Given the description of an element on the screen output the (x, y) to click on. 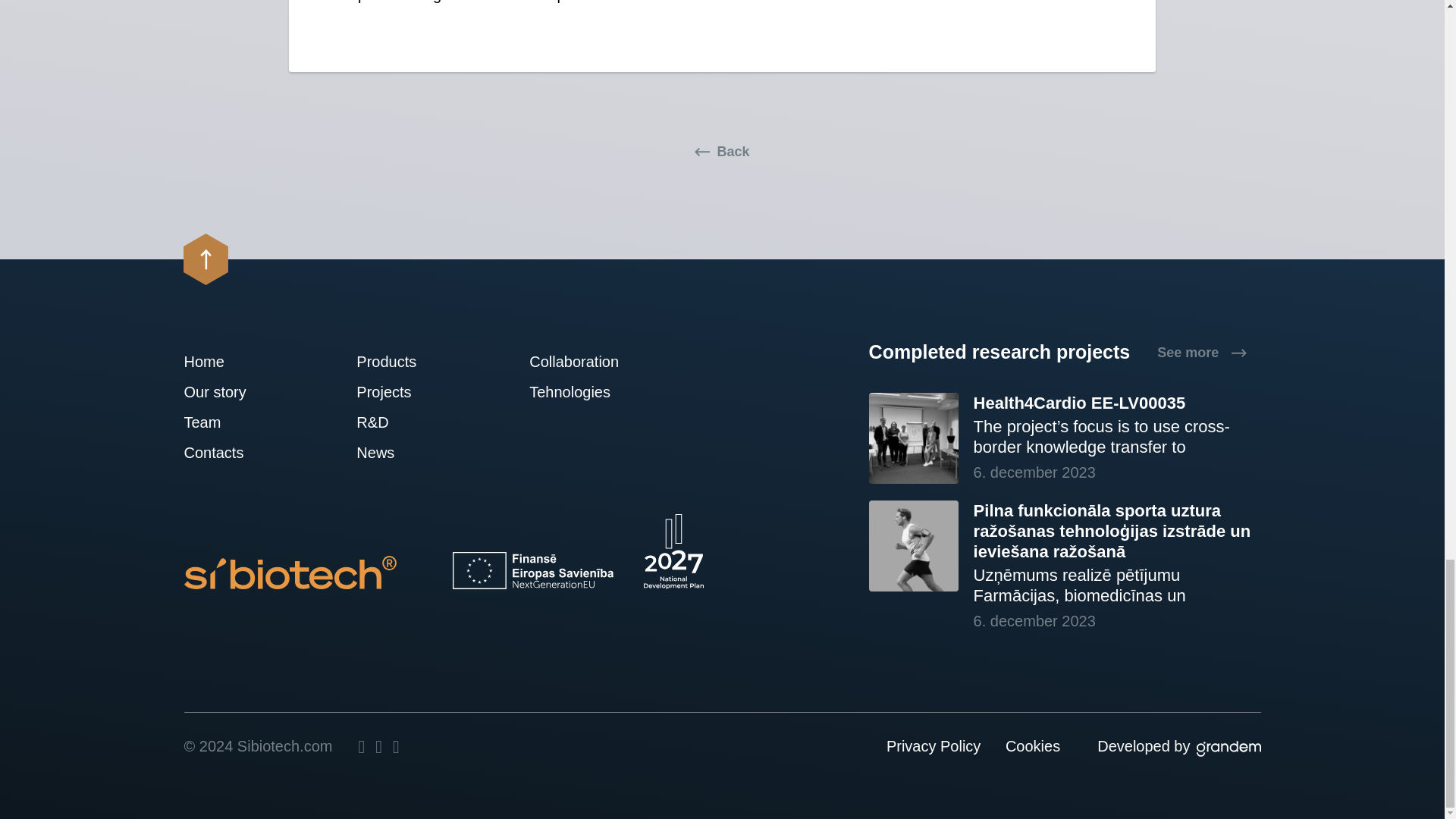
Contacts (228, 452)
See more (1201, 352)
Our story (228, 391)
Tehnologies (573, 391)
Projects (400, 391)
Collaboration (573, 361)
News (400, 452)
Team (228, 422)
Products (400, 361)
Back (721, 151)
Home (228, 361)
